Given the description of an element on the screen output the (x, y) to click on. 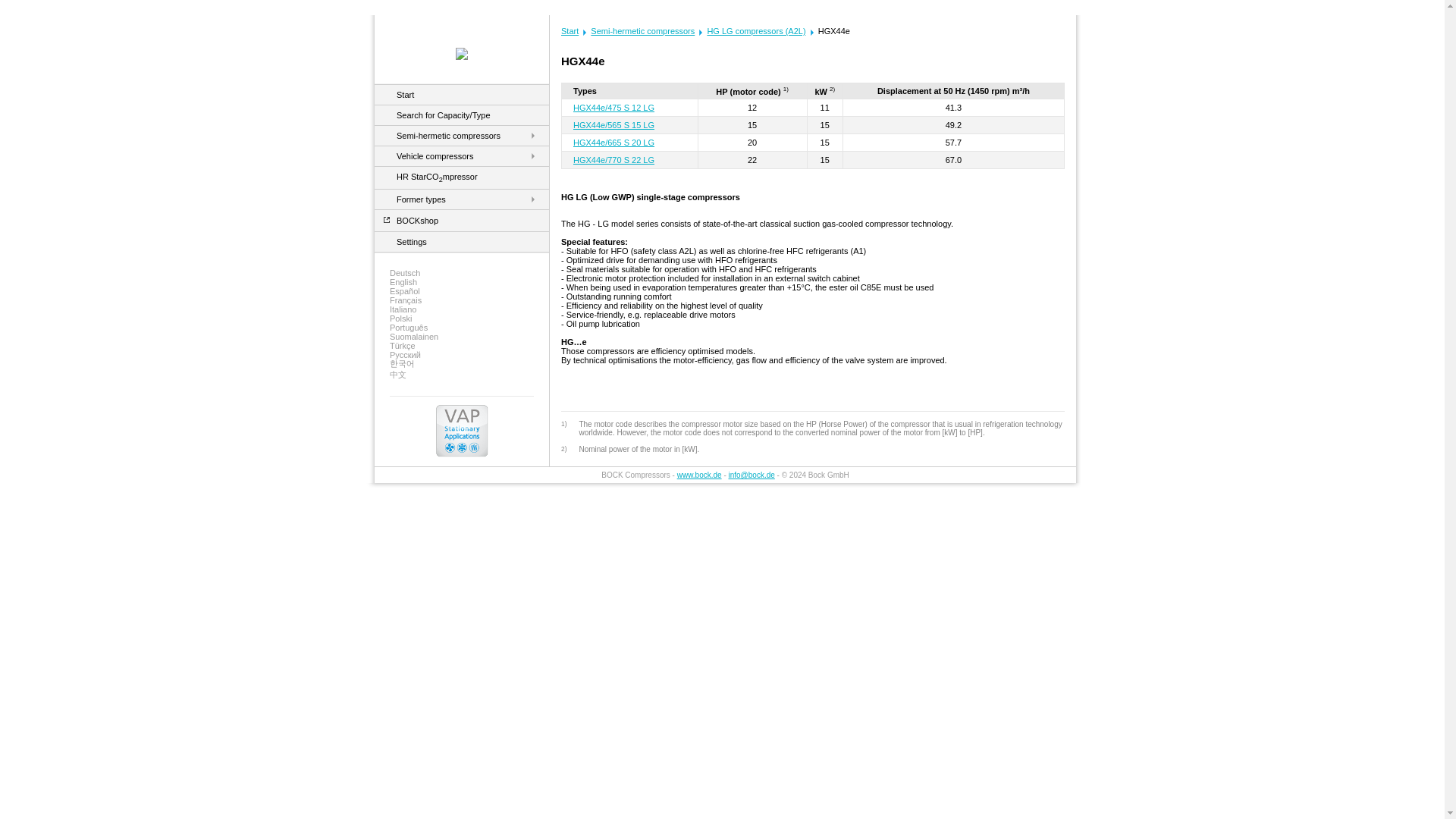
English (462, 281)
Semi-hermetic compressors (448, 135)
BOCKshop (417, 220)
HR StarCO2mpressor (436, 175)
Start (404, 94)
Former types (420, 198)
Deutsch (462, 272)
Vehicle compressors (435, 155)
